Given the description of an element on the screen output the (x, y) to click on. 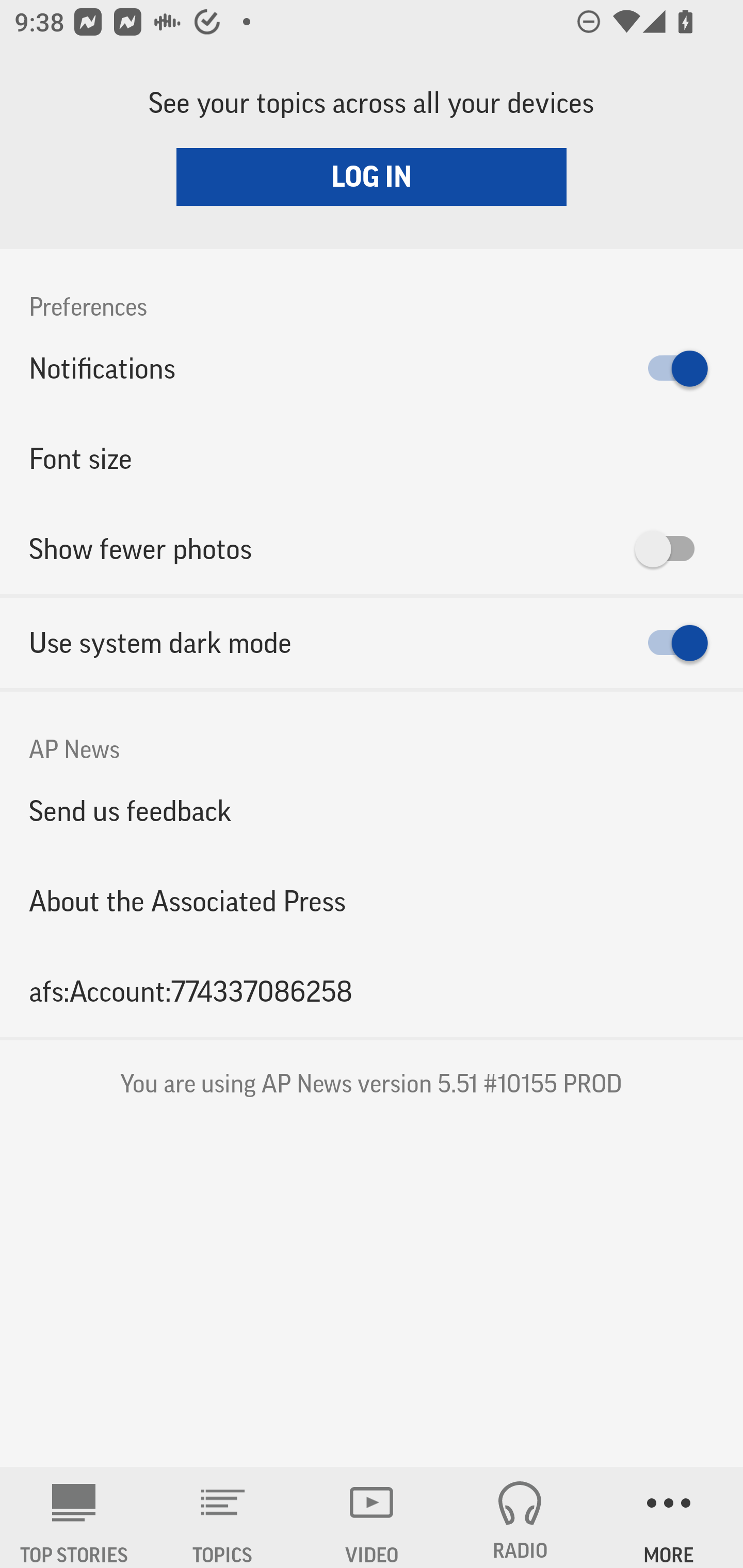
LOG IN (371, 176)
Notifications (371, 368)
Font size (371, 458)
Show fewer photos (371, 548)
Use system dark mode (371, 642)
Send us feedback (371, 810)
About the Associated Press (371, 901)
afs:Account:774337086258 (371, 991)
AP News TOP STORIES (74, 1517)
TOPICS (222, 1517)
VIDEO (371, 1517)
RADIO (519, 1517)
MORE (668, 1517)
